Given the description of an element on the screen output the (x, y) to click on. 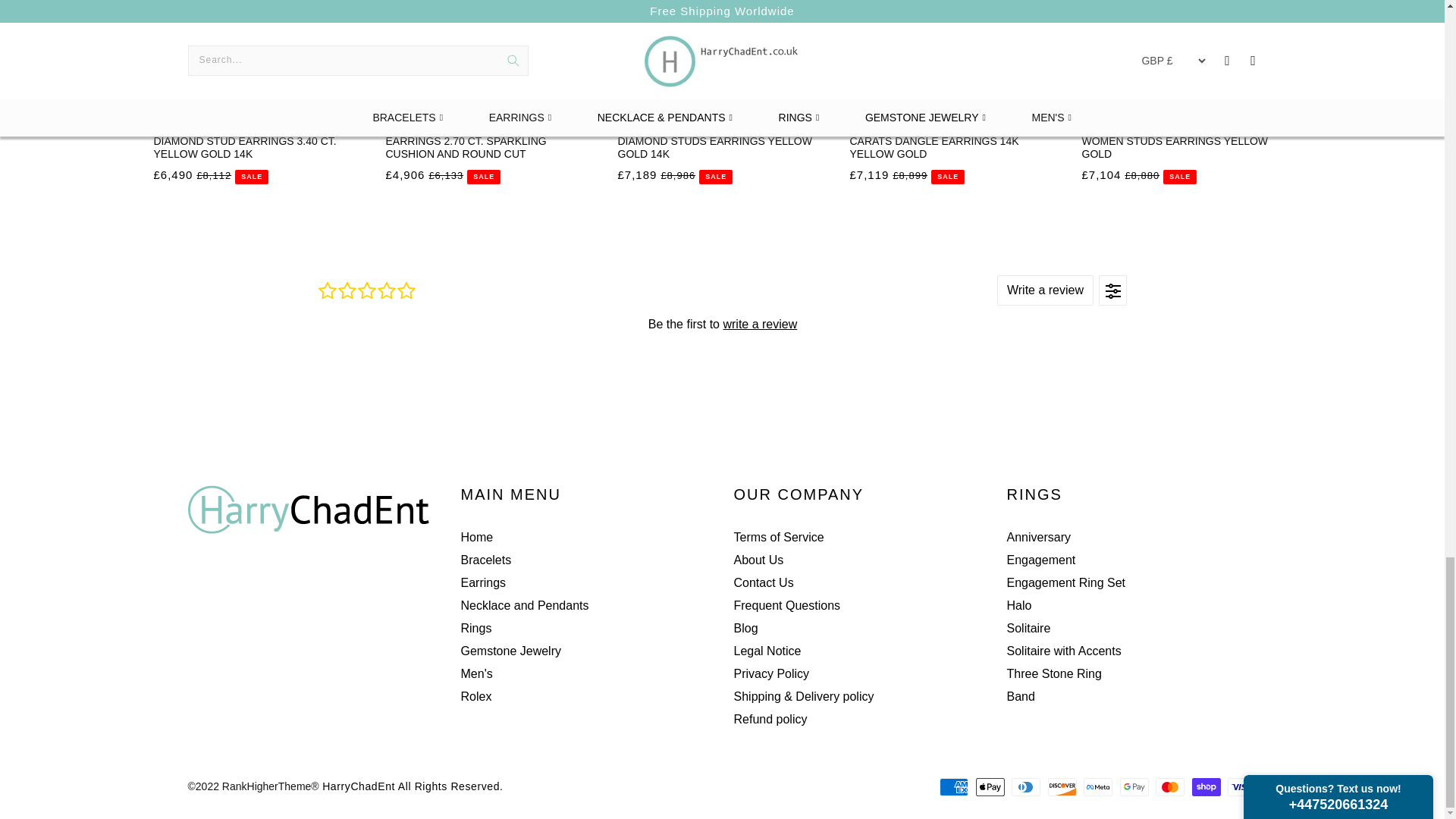
American Express (953, 787)
Google Pay (1133, 787)
Discover (1062, 787)
Visa (1241, 787)
Product reviews widget (722, 323)
Meta Pay (1097, 787)
Apple Pay (989, 787)
Mastercard (1170, 787)
Diners Club (1026, 787)
Shop Pay (1206, 787)
